Given the description of an element on the screen output the (x, y) to click on. 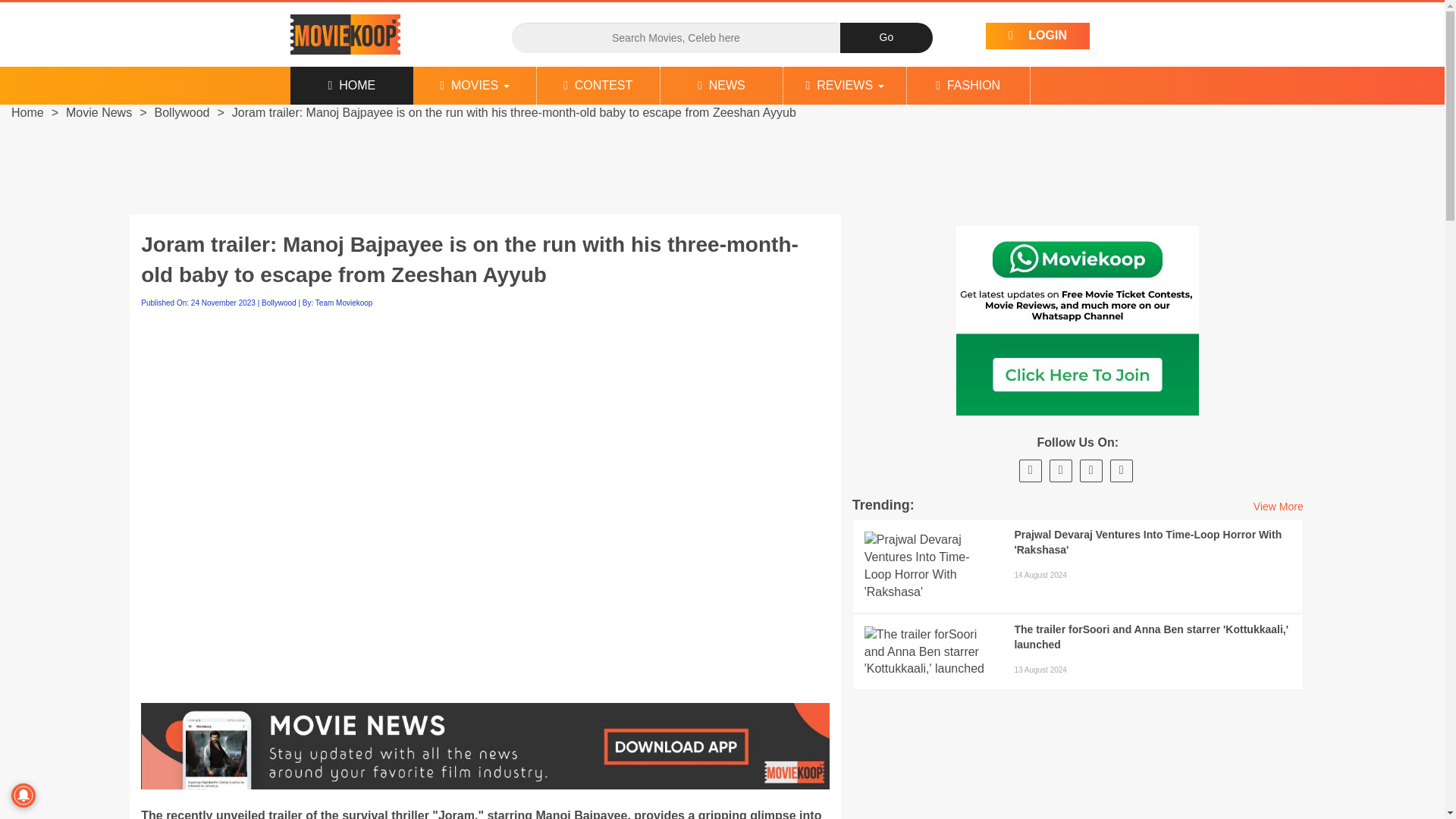
Movie News (98, 112)
  NEWS (722, 85)
Advertisement (721, 163)
News (722, 85)
  HOME (351, 85)
Posts by Team Moviekoop (343, 302)
 LOGIN (1037, 35)
  CONTEST (598, 85)
